Given the description of an element on the screen output the (x, y) to click on. 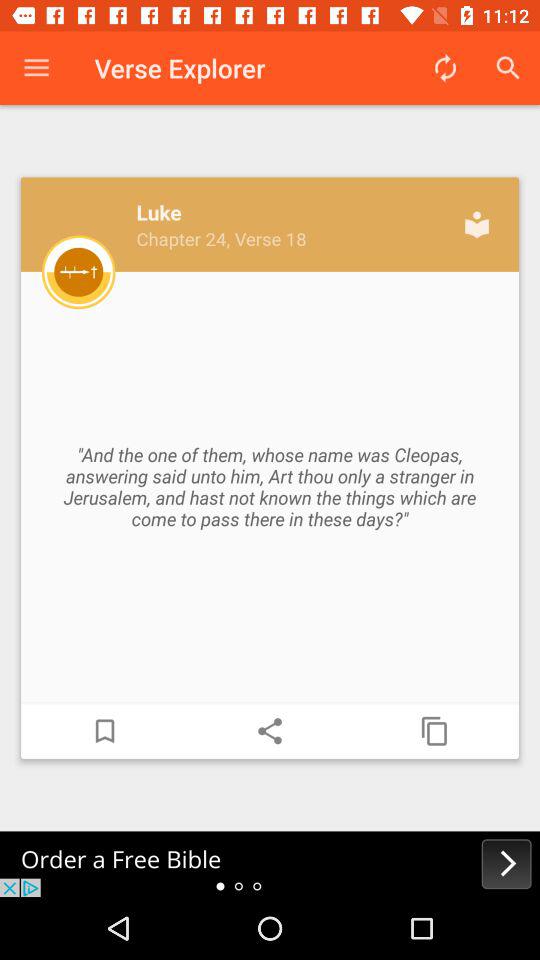
bookmark (105, 731)
